Given the description of an element on the screen output the (x, y) to click on. 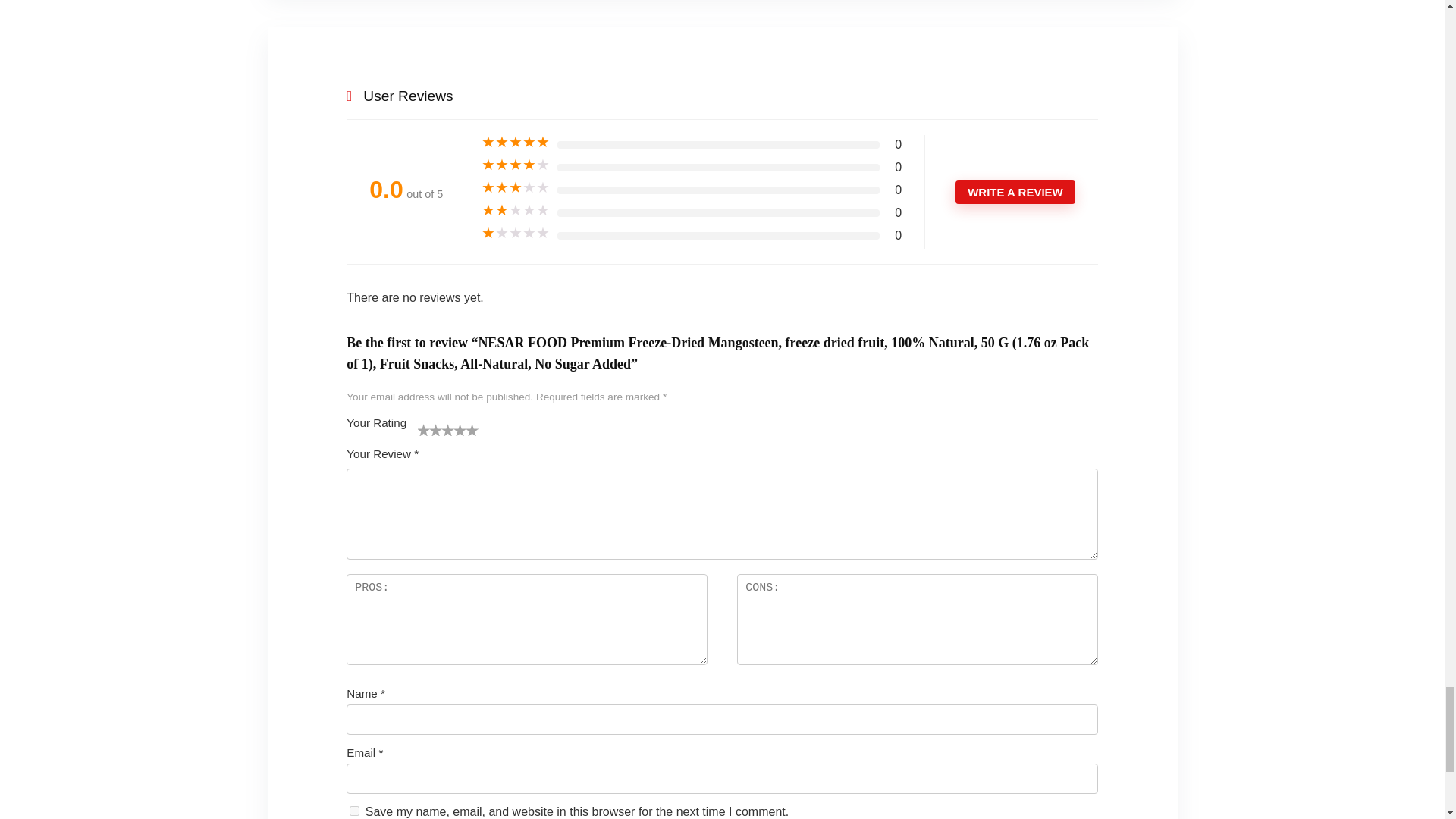
Rated 1 out of 5 (515, 233)
Rated 2 out of 5 (515, 210)
Rated 4 out of 5 (515, 165)
Rated 3 out of 5 (515, 187)
WRITE A REVIEW (1015, 191)
Rated 5 out of 5 (515, 142)
yes (354, 810)
